Given the description of an element on the screen output the (x, y) to click on. 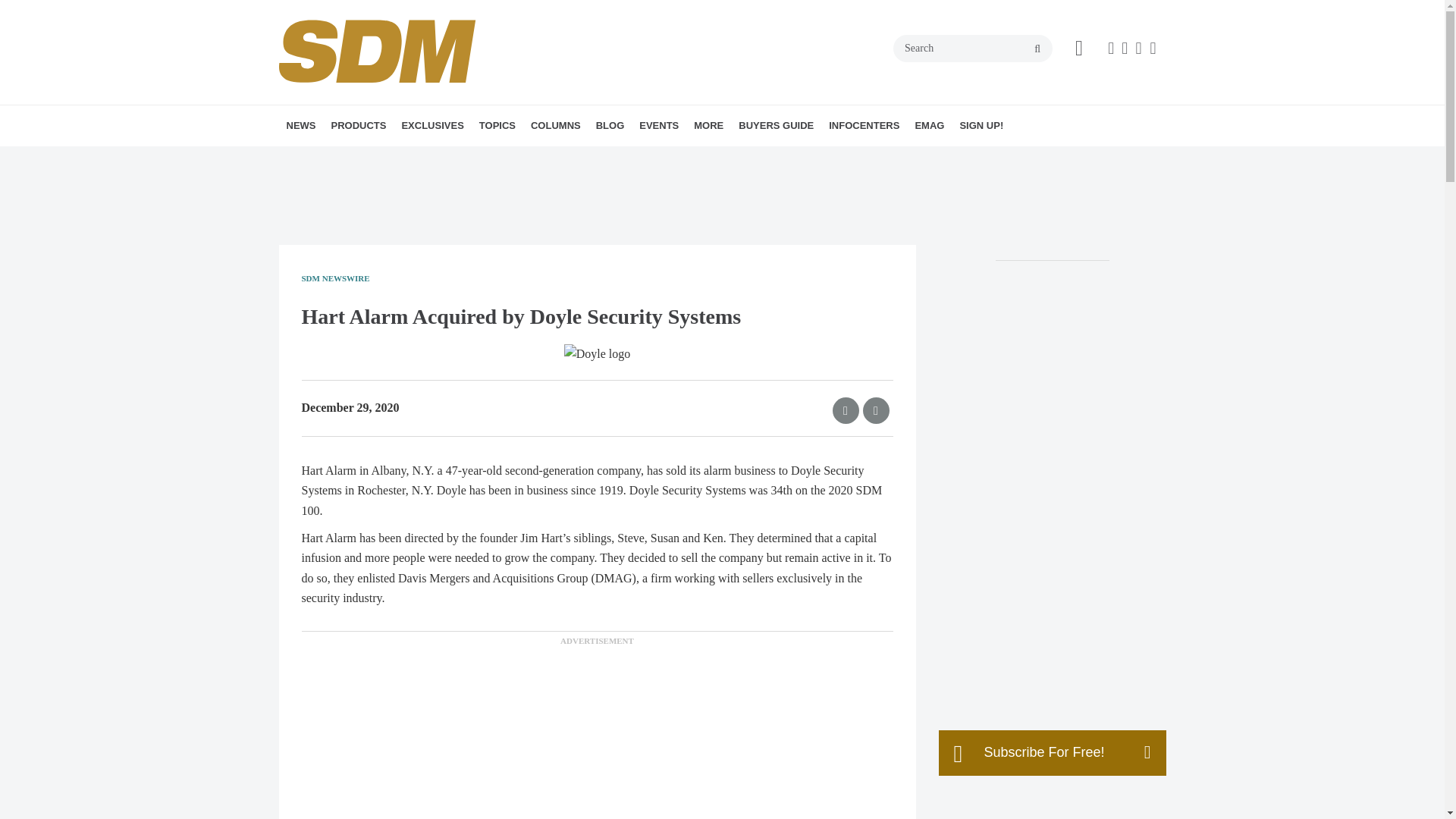
TOP SYSTEMS INTEGRATOR REPORT (522, 167)
search (1037, 49)
SYSTEMS INTEGRATOR OF THE YEAR (516, 167)
COLUMNS (555, 125)
DIGITAL SHUFFLE (617, 158)
MARKETING MADMEN (641, 158)
NEWS (301, 125)
TOPICS (496, 125)
SMART HOME (595, 158)
PROJECT OF THE YEAR (501, 158)
